Given the description of an element on the screen output the (x, y) to click on. 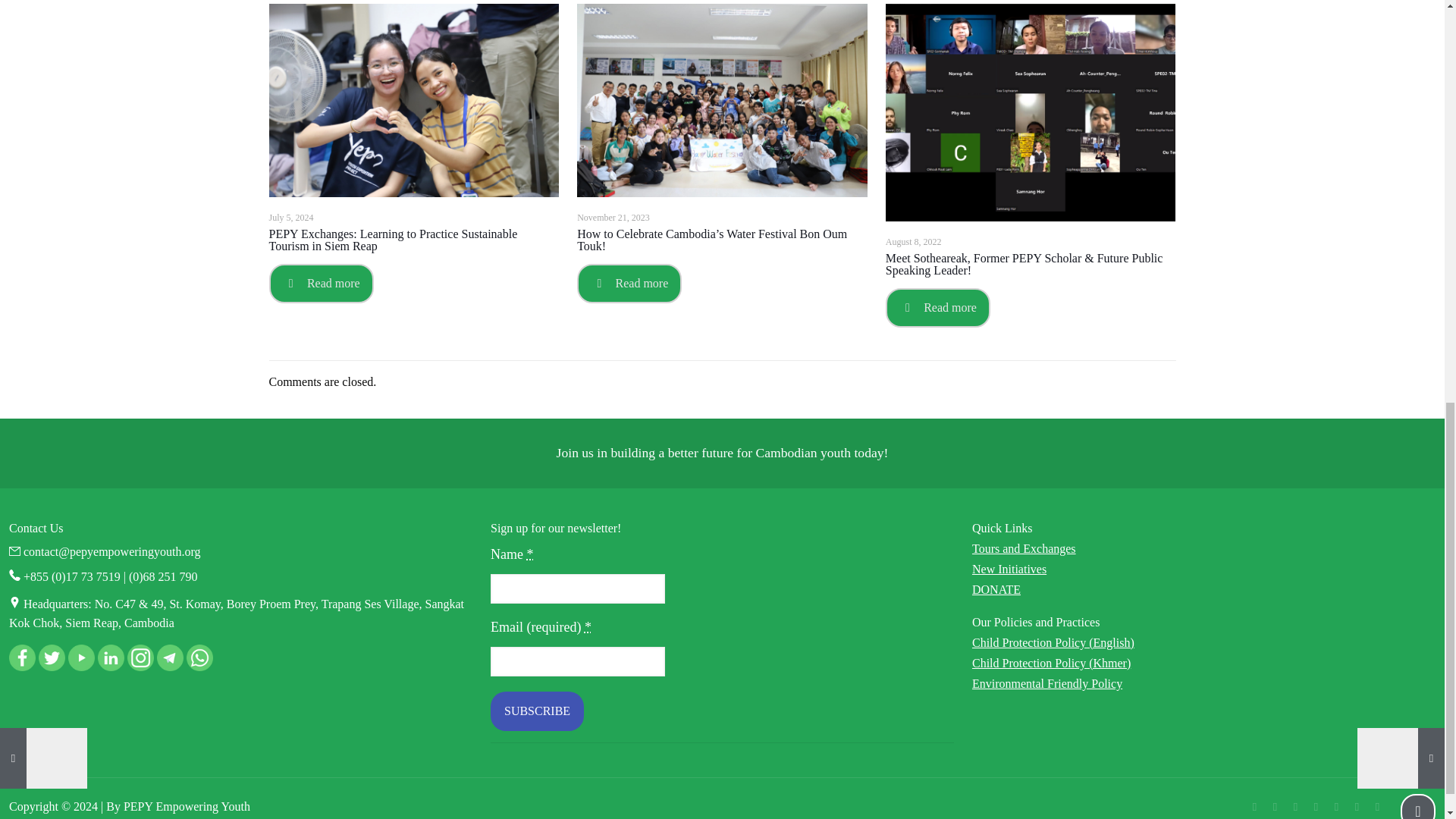
Instagram (1357, 806)
Facebook (1274, 806)
Twitter (1295, 806)
LinkedIn (1335, 806)
YouTube (1315, 806)
SUBSCRIBE (536, 711)
WhatsApp (1254, 806)
